Given the description of an element on the screen output the (x, y) to click on. 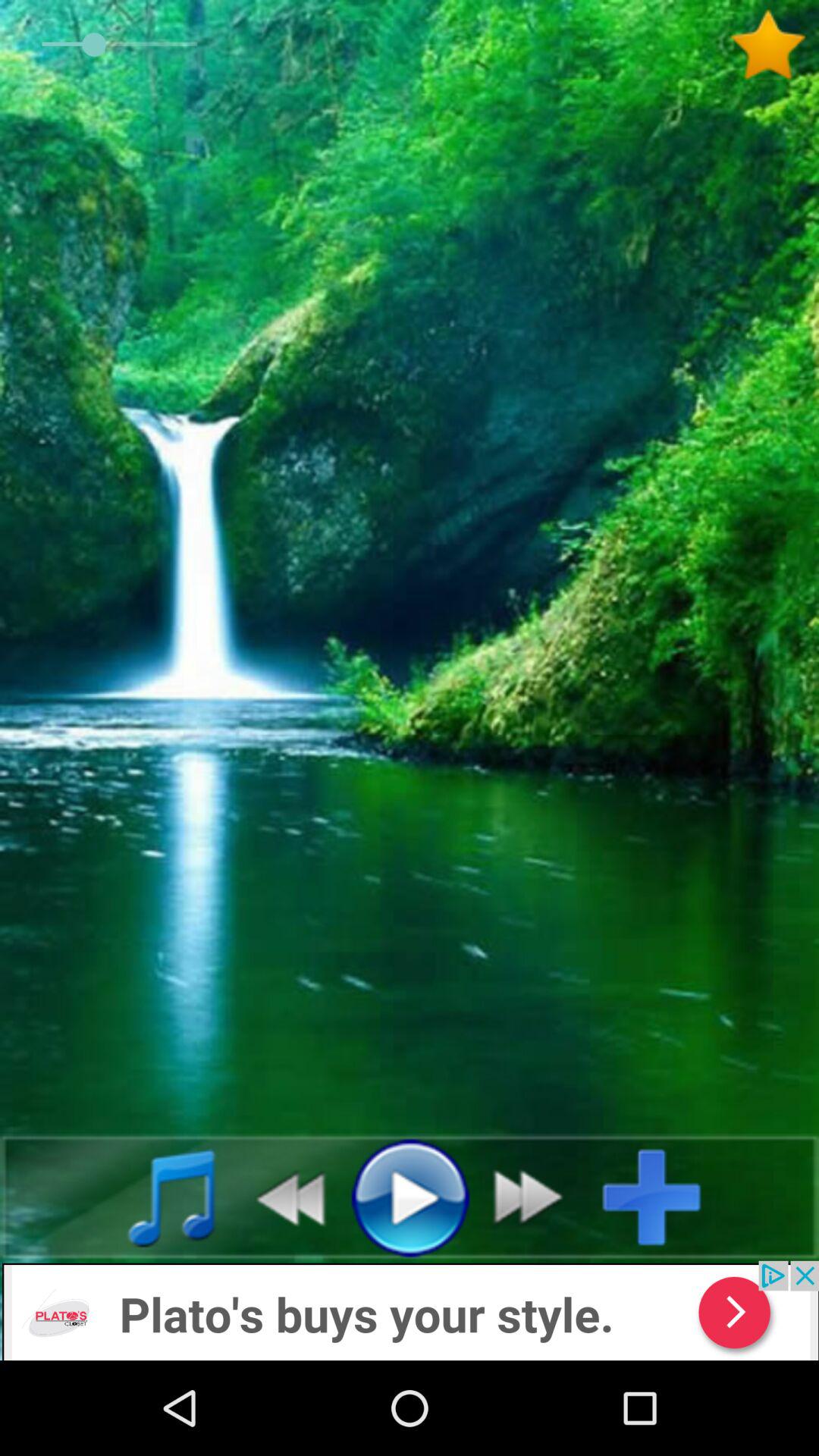
star (774, 44)
